Given the description of an element on the screen output the (x, y) to click on. 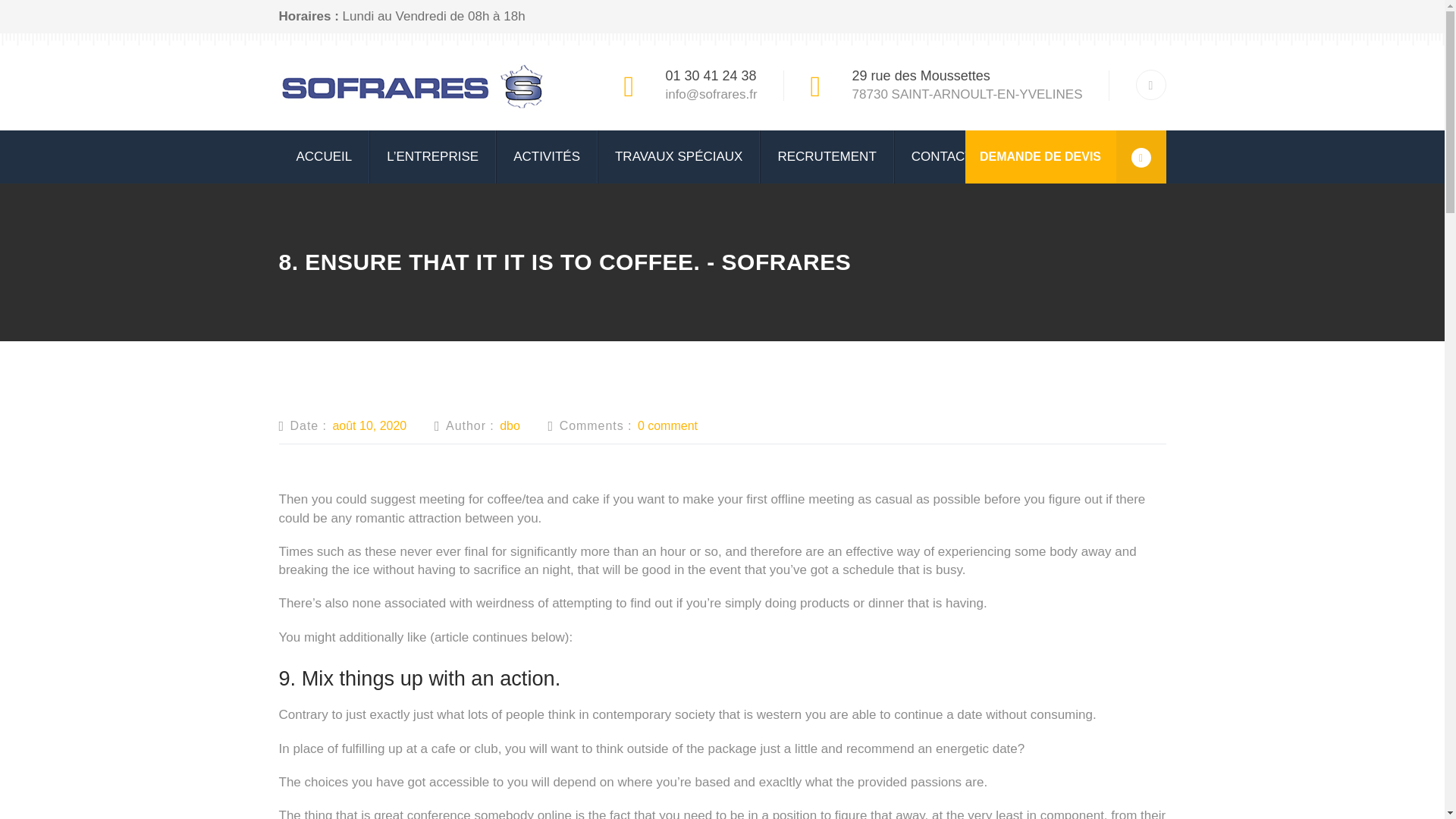
CONTACT (941, 156)
RECRUTEMENT (826, 156)
DEMANDE DE DEVIS (1064, 156)
RECRUTEMENT (826, 156)
ACCUEIL (324, 156)
Contact (941, 156)
ACCUEIL (324, 156)
